Given the description of an element on the screen output the (x, y) to click on. 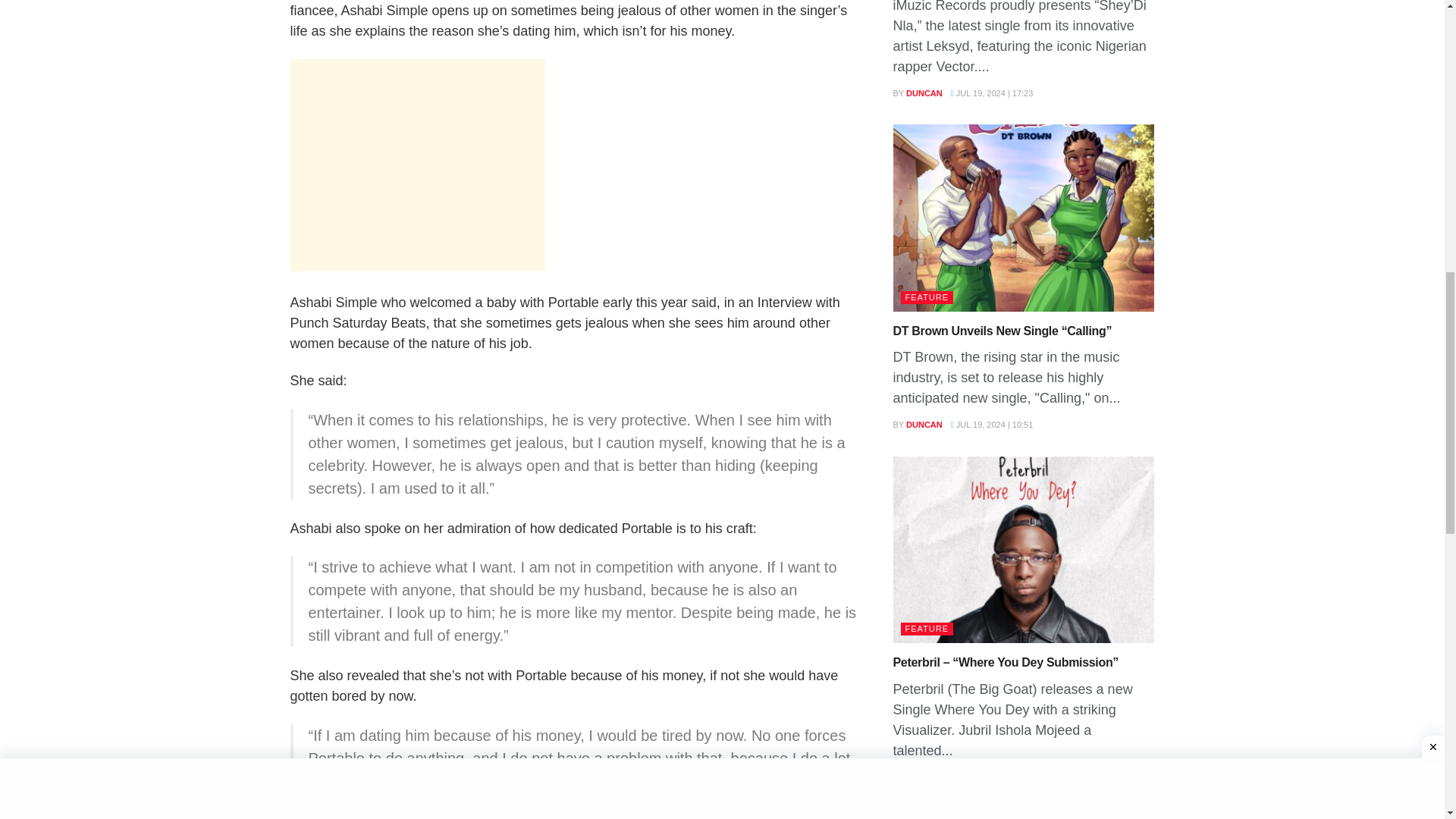
Advertisement (416, 164)
